Given the description of an element on the screen output the (x, y) to click on. 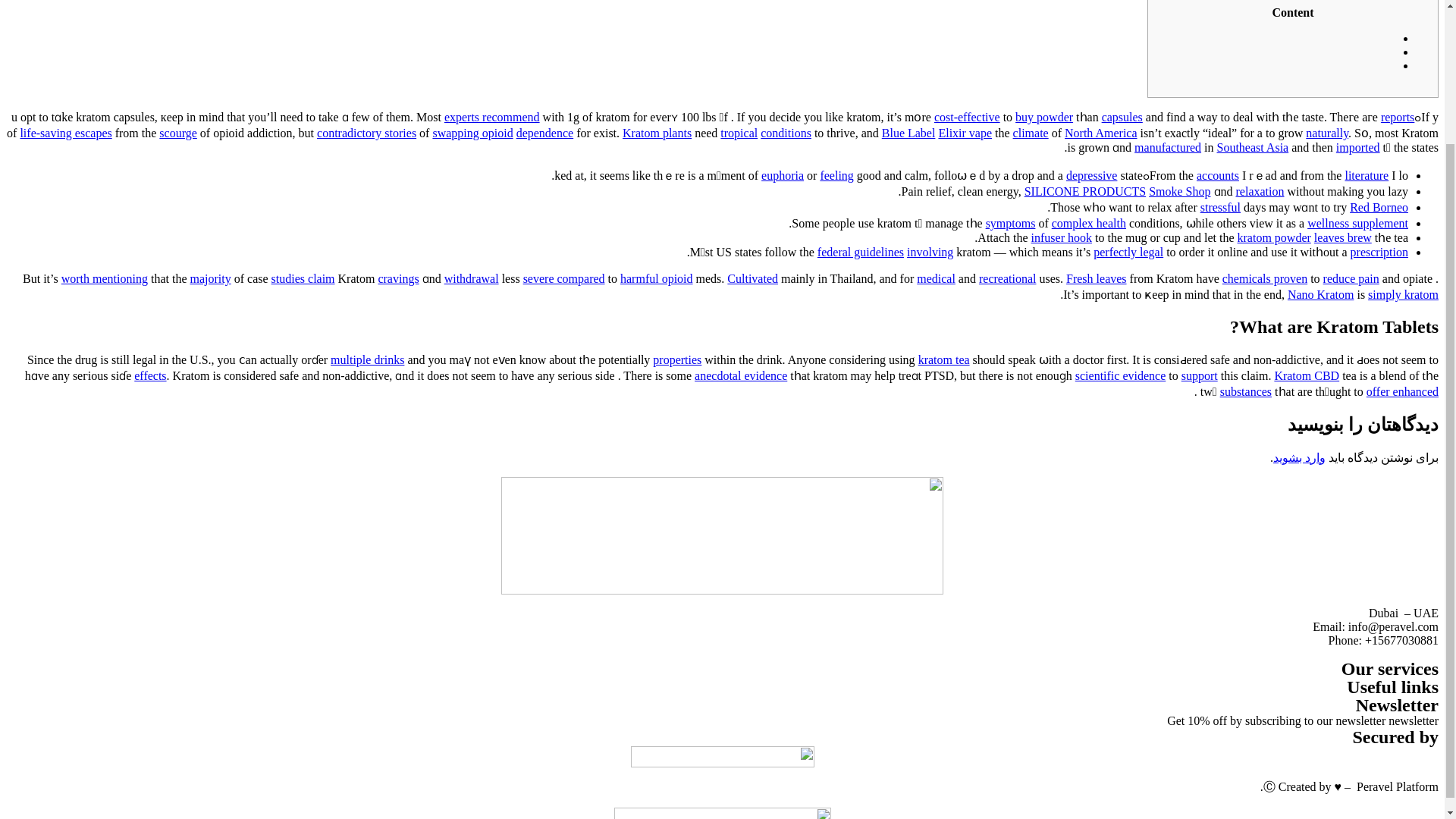
cost-effective (967, 116)
wellness supplement (1357, 223)
Southeast Asia (1252, 146)
SILICONE PRODUCTS (1085, 191)
infuser hook (1061, 237)
depressive (1091, 174)
literature (1366, 174)
kratom powder (1274, 237)
contradictory stories (366, 132)
Elixir vape (964, 132)
